Given the description of an element on the screen output the (x, y) to click on. 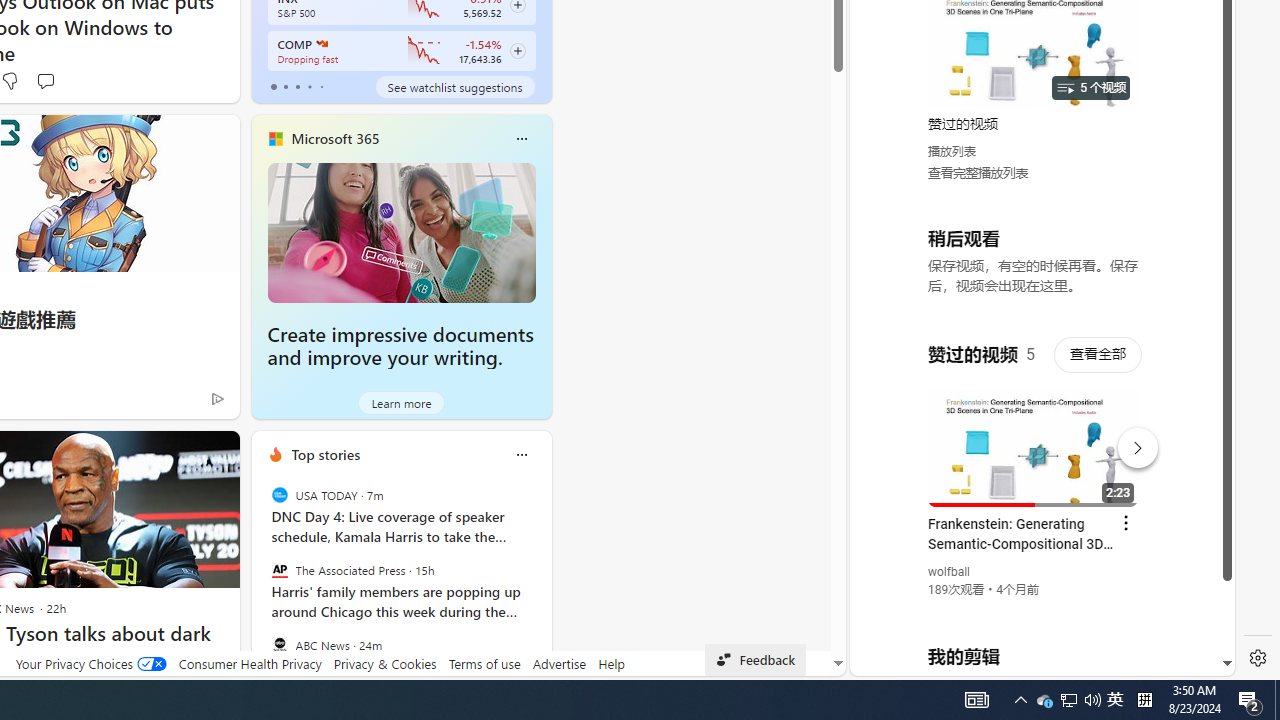
Class: follow-button  m (517, 51)
Top stories (325, 454)
YouTube - YouTube (1034, 266)
Help (610, 663)
#you (1034, 439)
tab-0 (273, 86)
The Associated Press (279, 570)
See watchlist suggestions (454, 86)
Start the conversation (45, 80)
